Given the description of an element on the screen output the (x, y) to click on. 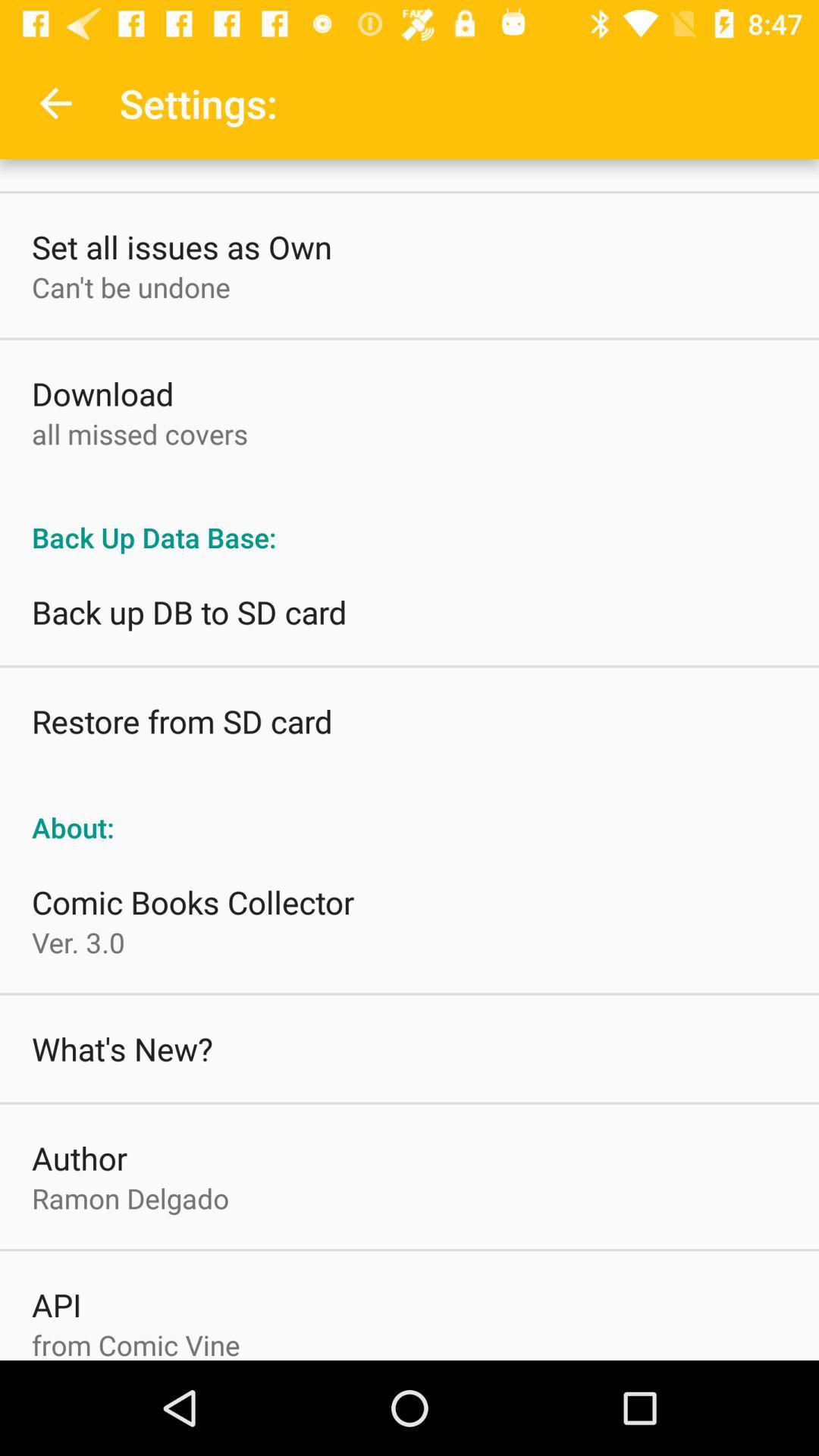
turn off the item below comic books collector item (78, 942)
